Given the description of an element on the screen output the (x, y) to click on. 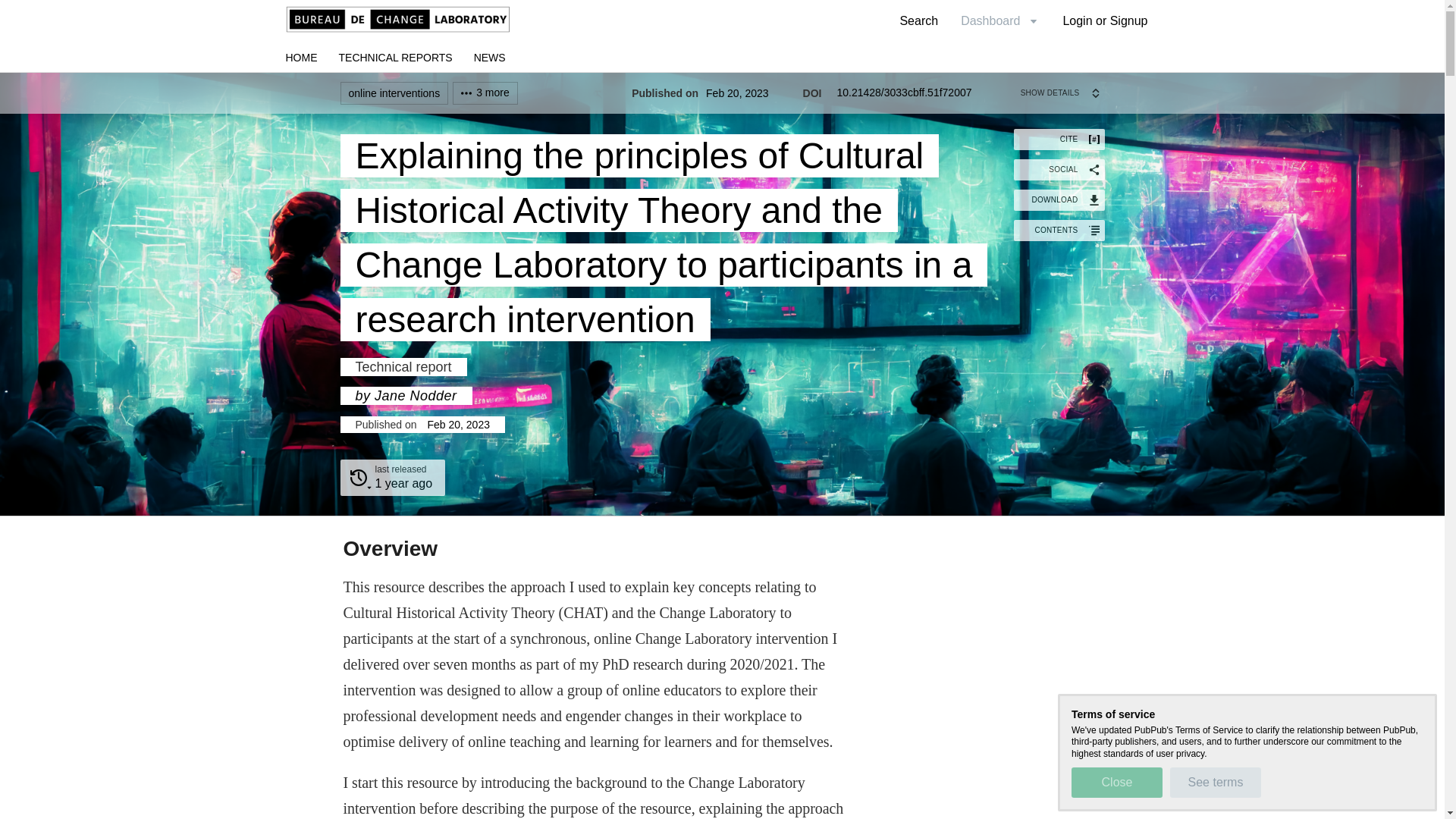
Login or Signup (1104, 20)
Close (1116, 782)
CITE (1058, 138)
NEWS (489, 57)
HOME (301, 57)
SHOW DETAILS (1062, 93)
DOWNLOAD (1058, 199)
Search (918, 20)
CONTENTS (1058, 230)
SOCIAL (1058, 169)
